Given the description of an element on the screen output the (x, y) to click on. 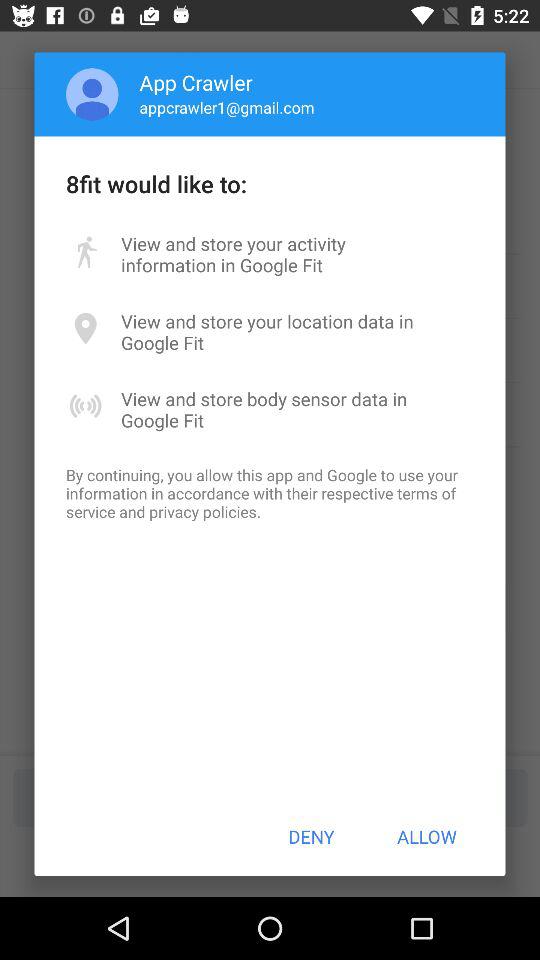
tap icon next to the allow icon (311, 836)
